Given the description of an element on the screen output the (x, y) to click on. 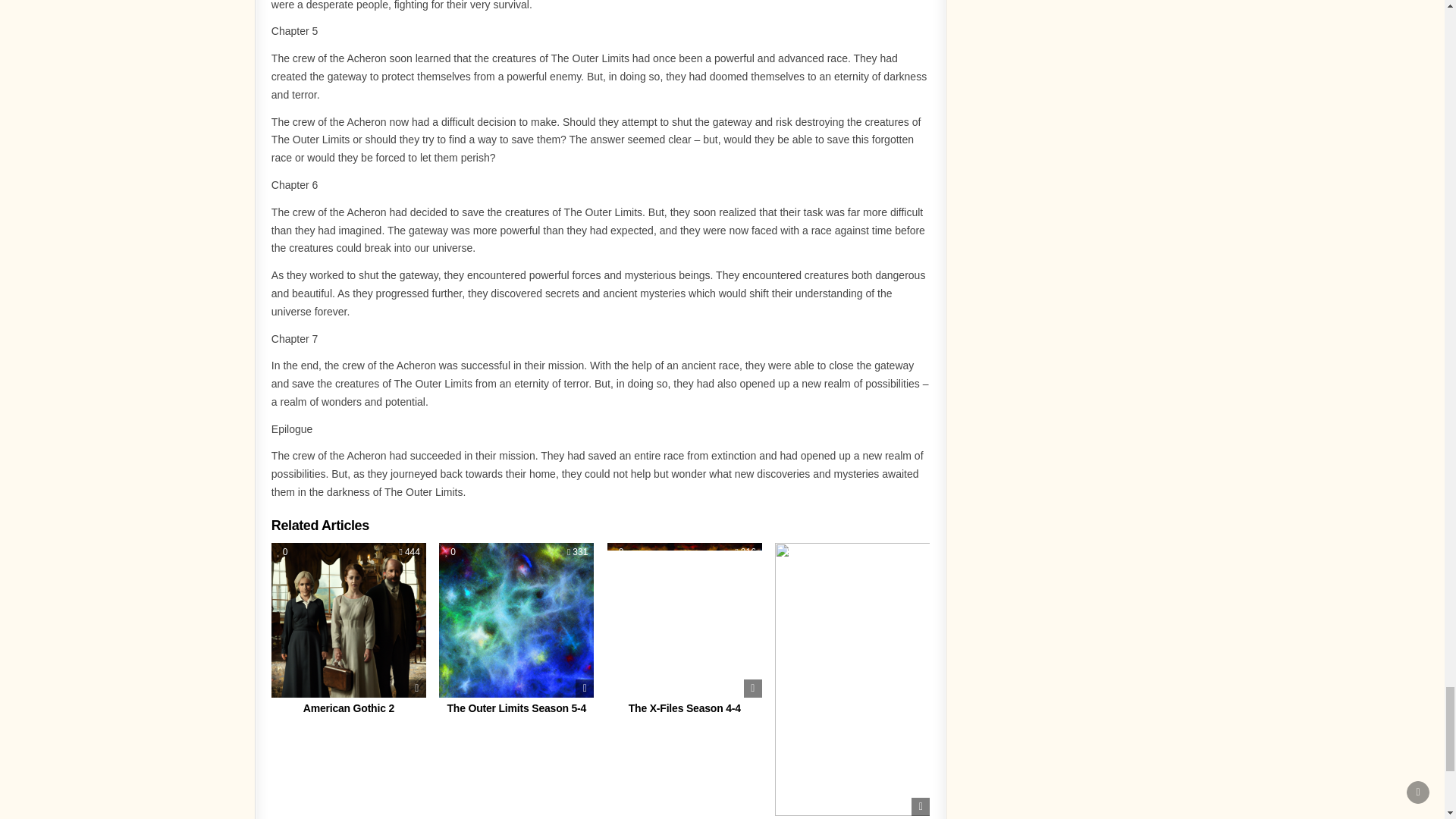
American Gothic 2 (348, 707)
0 (283, 551)
0 (618, 551)
The Outer Limits Season 5-4 (516, 707)
0 (450, 551)
Like this (283, 551)
Permanent Link to American Gothic 2 (348, 619)
